Given the description of an element on the screen output the (x, y) to click on. 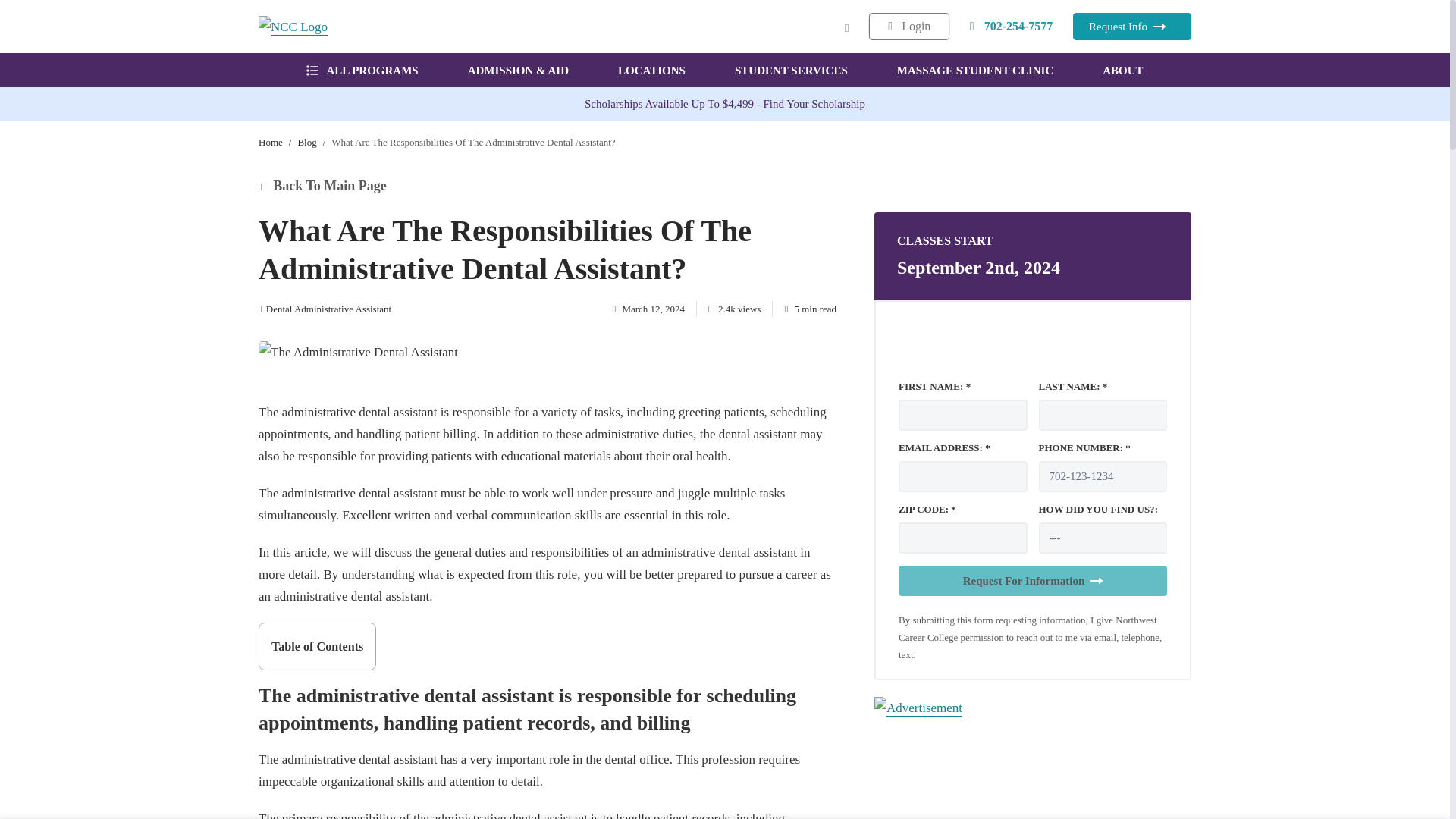
Request Info (1132, 26)
702-254-7577 (1011, 26)
ALL PROGRAMS (362, 69)
Blog (306, 142)
Login (909, 26)
